Given the description of an element on the screen output the (x, y) to click on. 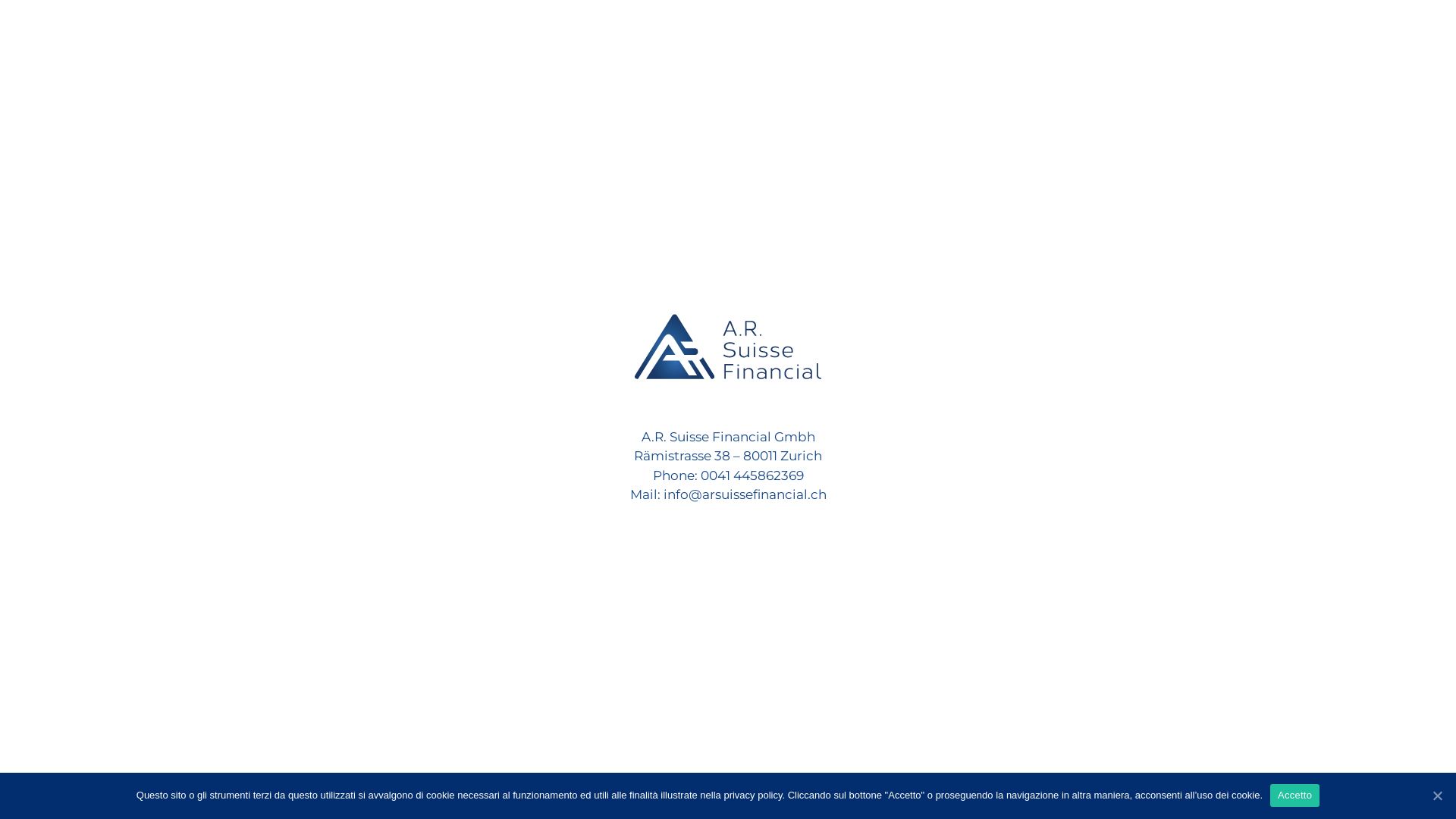
Accetto Element type: text (1294, 795)
